Given the description of an element on the screen output the (x, y) to click on. 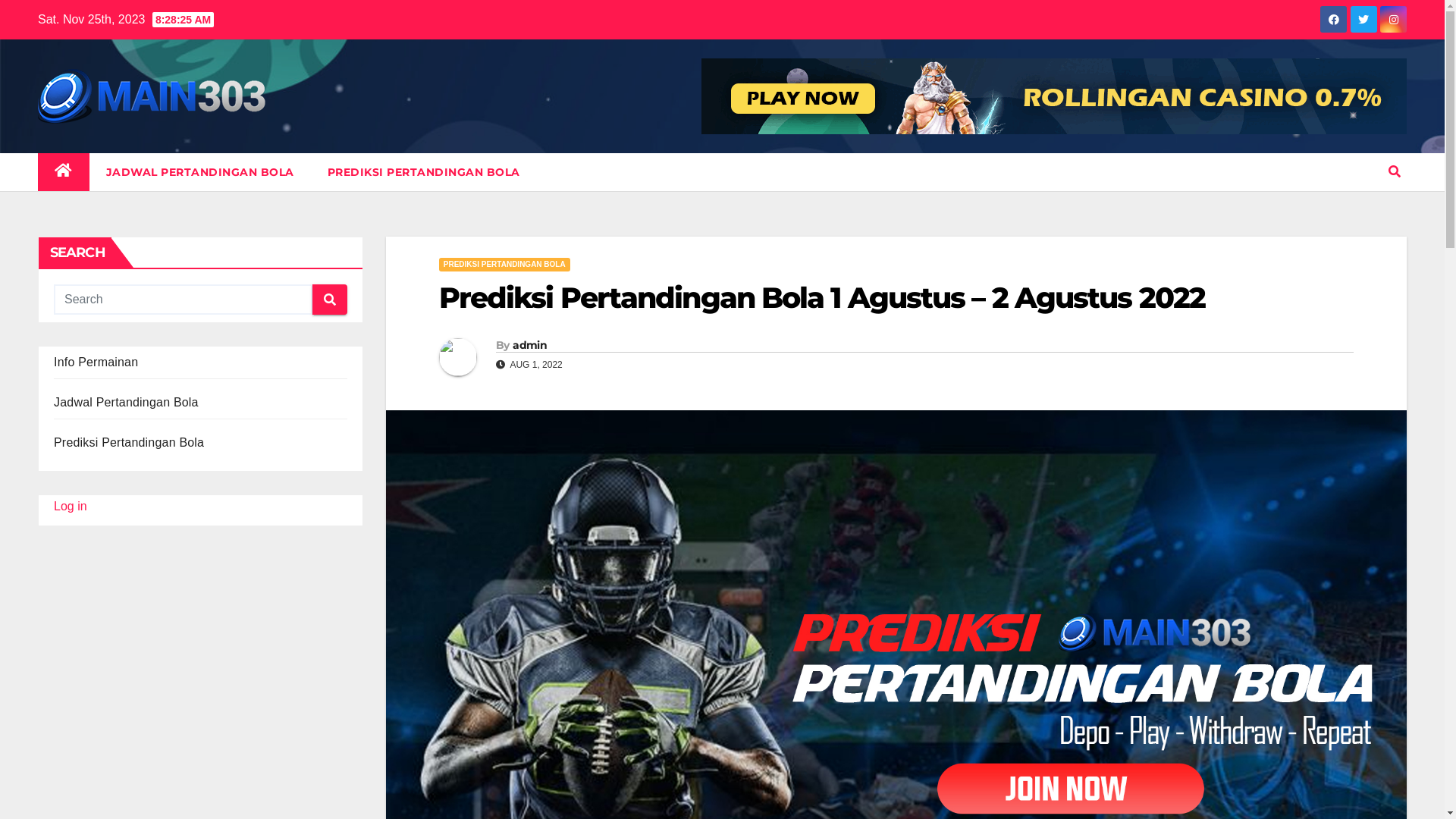
Log in Element type: text (70, 505)
PREDIKSI PERTANDINGAN BOLA Element type: text (423, 172)
Prediksi Pertandingan Bola Element type: text (128, 442)
admin Element type: text (529, 344)
Jadwal Pertandingan Bola Element type: text (125, 401)
Info Permainan Element type: text (95, 361)
JADWAL PERTANDINGAN BOLA Element type: text (199, 172)
PREDIKSI PERTANDINGAN BOLA Element type: text (504, 264)
